Given the description of an element on the screen output the (x, y) to click on. 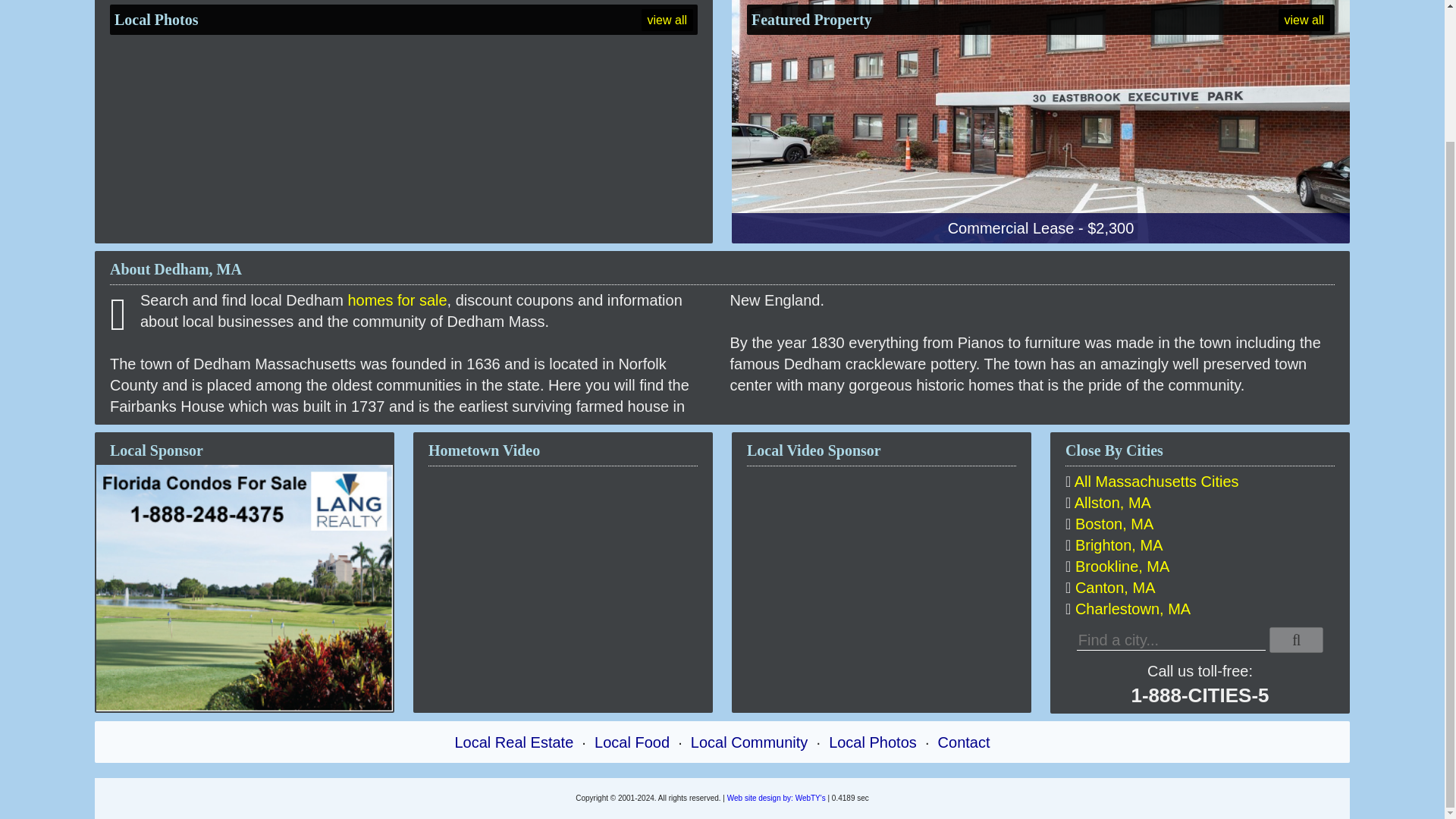
Local Real Estate (513, 742)
Charlestown, MA (1133, 608)
All Massachusetts Cities (1156, 481)
view all (1303, 19)
Canton, MA (1115, 587)
Brookline, MA (1122, 565)
Local Photos (872, 742)
homes for sale (396, 299)
Web site design by: WebTY's (775, 797)
view all (667, 19)
Contact (963, 742)
Brighton, MA (1119, 545)
Local Community (749, 742)
Allston, MA (1112, 502)
Local Food (631, 742)
